Given the description of an element on the screen output the (x, y) to click on. 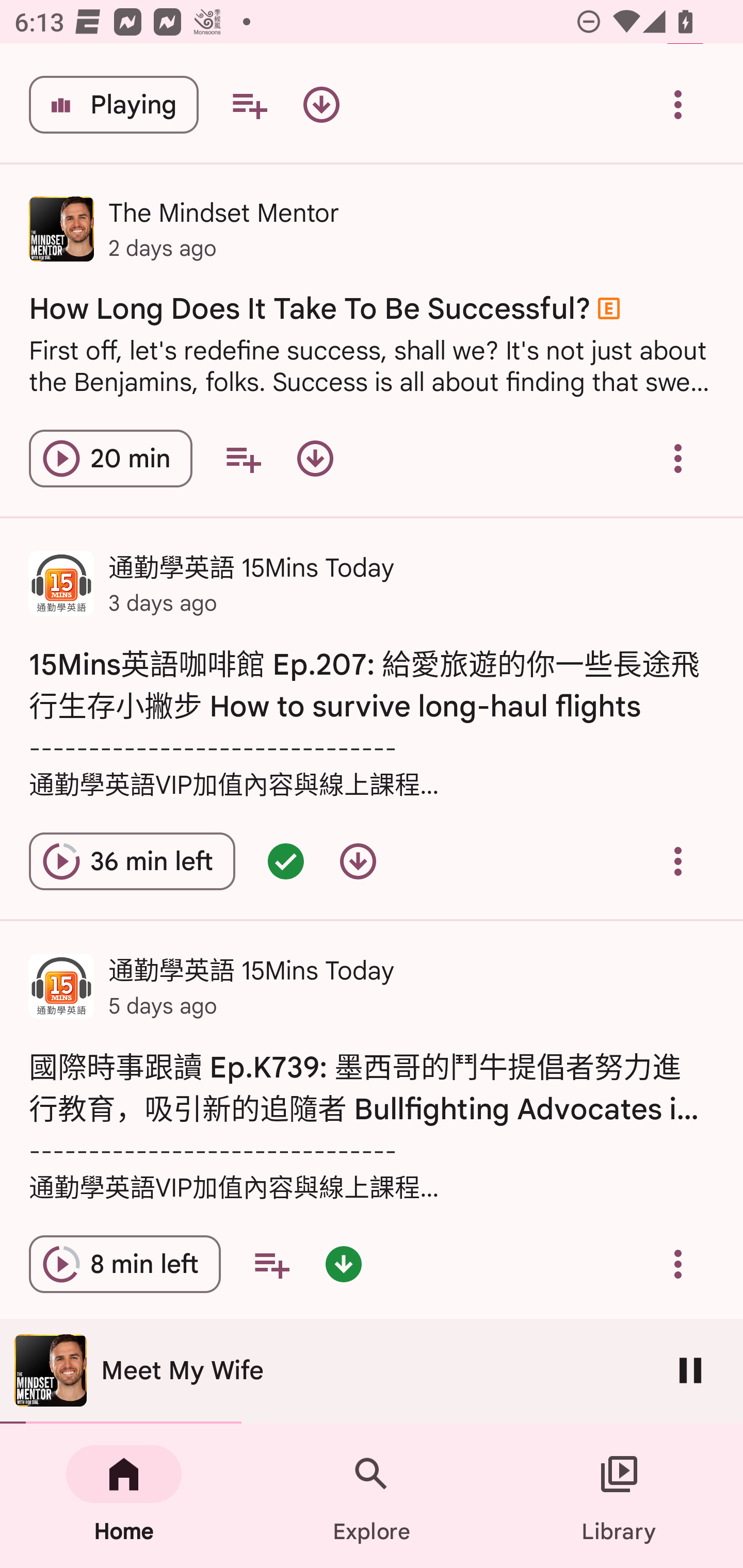
Pause episode Meet My Wife Playing (113, 104)
Add to your queue (249, 104)
Download episode (321, 104)
Overflow menu (677, 104)
Add to your queue (242, 458)
Download episode (315, 458)
Overflow menu (677, 458)
Episode queued - double tap for options (285, 861)
Download episode (357, 861)
Overflow menu (677, 861)
Add to your queue (271, 1264)
Episode downloaded - double tap for options (343, 1264)
Overflow menu (677, 1264)
通勤學英語 15Mins Today 通勤學英語 15Mins Today Mar 1 (371, 1373)
Pause (690, 1370)
Explore (371, 1495)
Library (619, 1495)
